Given the description of an element on the screen output the (x, y) to click on. 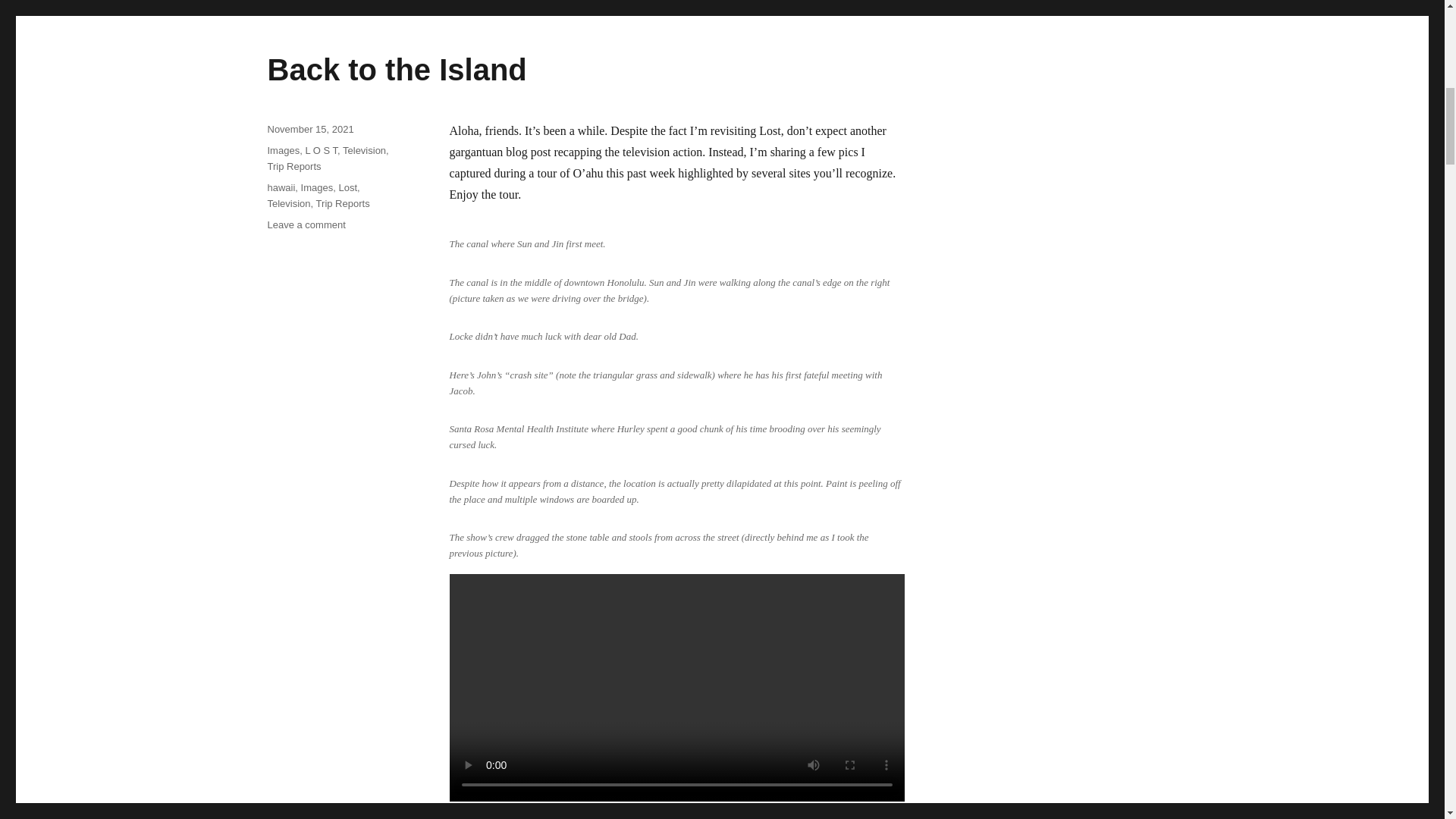
Back to the Island (395, 69)
